Given the description of an element on the screen output the (x, y) to click on. 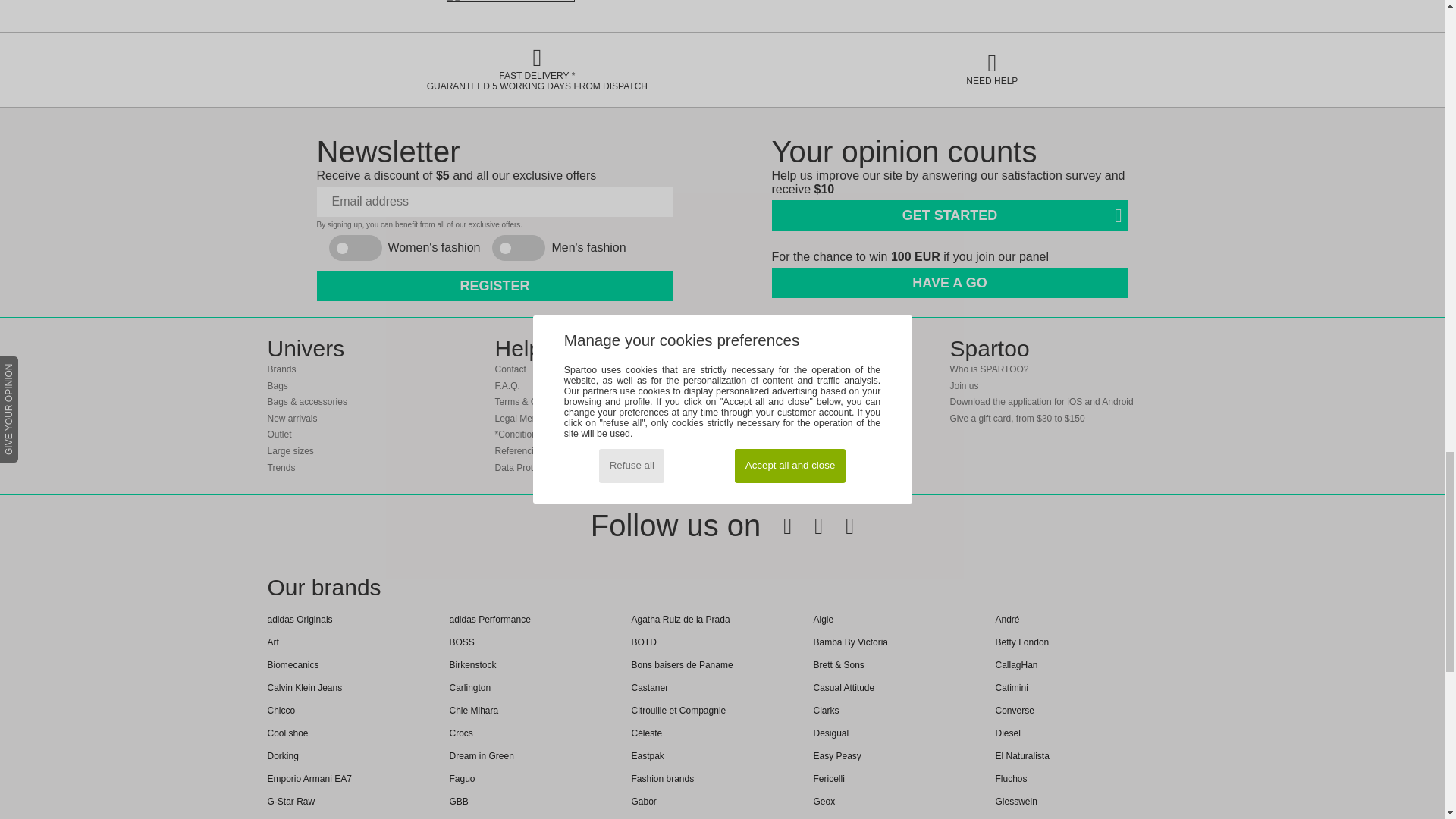
Facebook (776, 526)
Panel VP (949, 281)
Twitter (807, 526)
Instagram (837, 526)
